Given the description of an element on the screen output the (x, y) to click on. 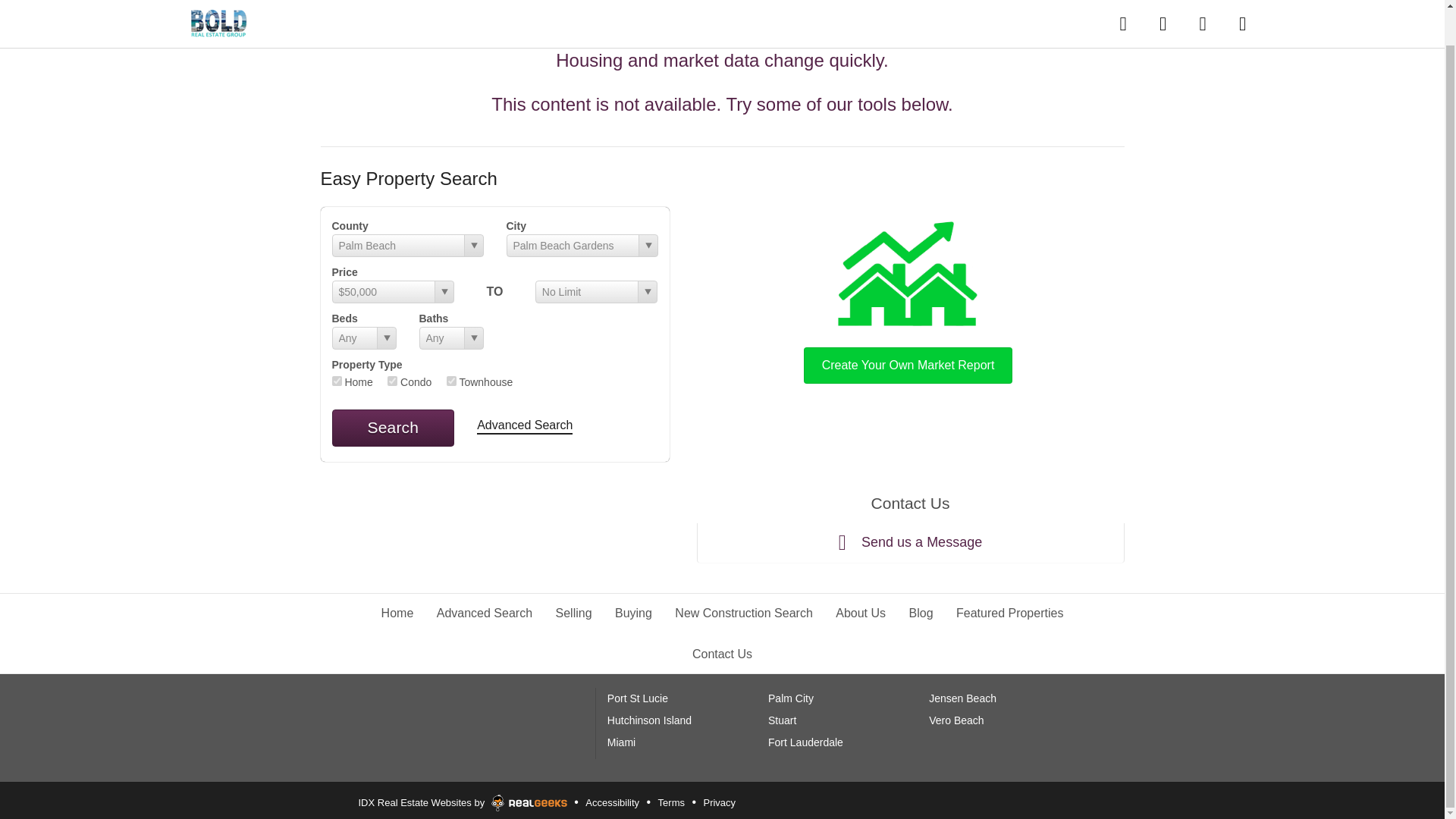
Home (397, 612)
Port St Lucie (637, 698)
res (336, 380)
Create Your Own Market Report (907, 299)
Search (392, 427)
twn (451, 380)
New Construction Search (743, 612)
Hutchinson Island (649, 720)
Vero Beach (956, 720)
Send us a Message (909, 542)
